Given the description of an element on the screen output the (x, y) to click on. 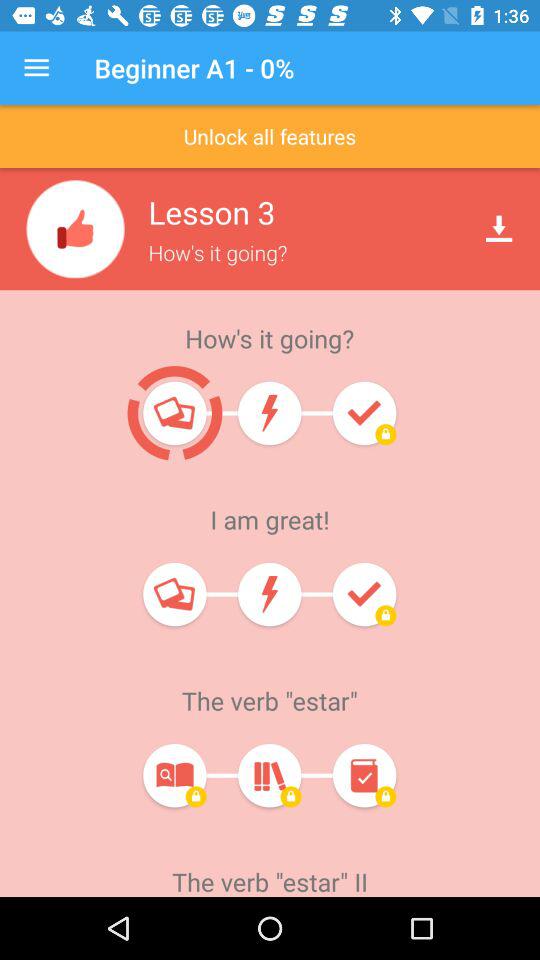
press the unlock all features (270, 136)
